Given the description of an element on the screen output the (x, y) to click on. 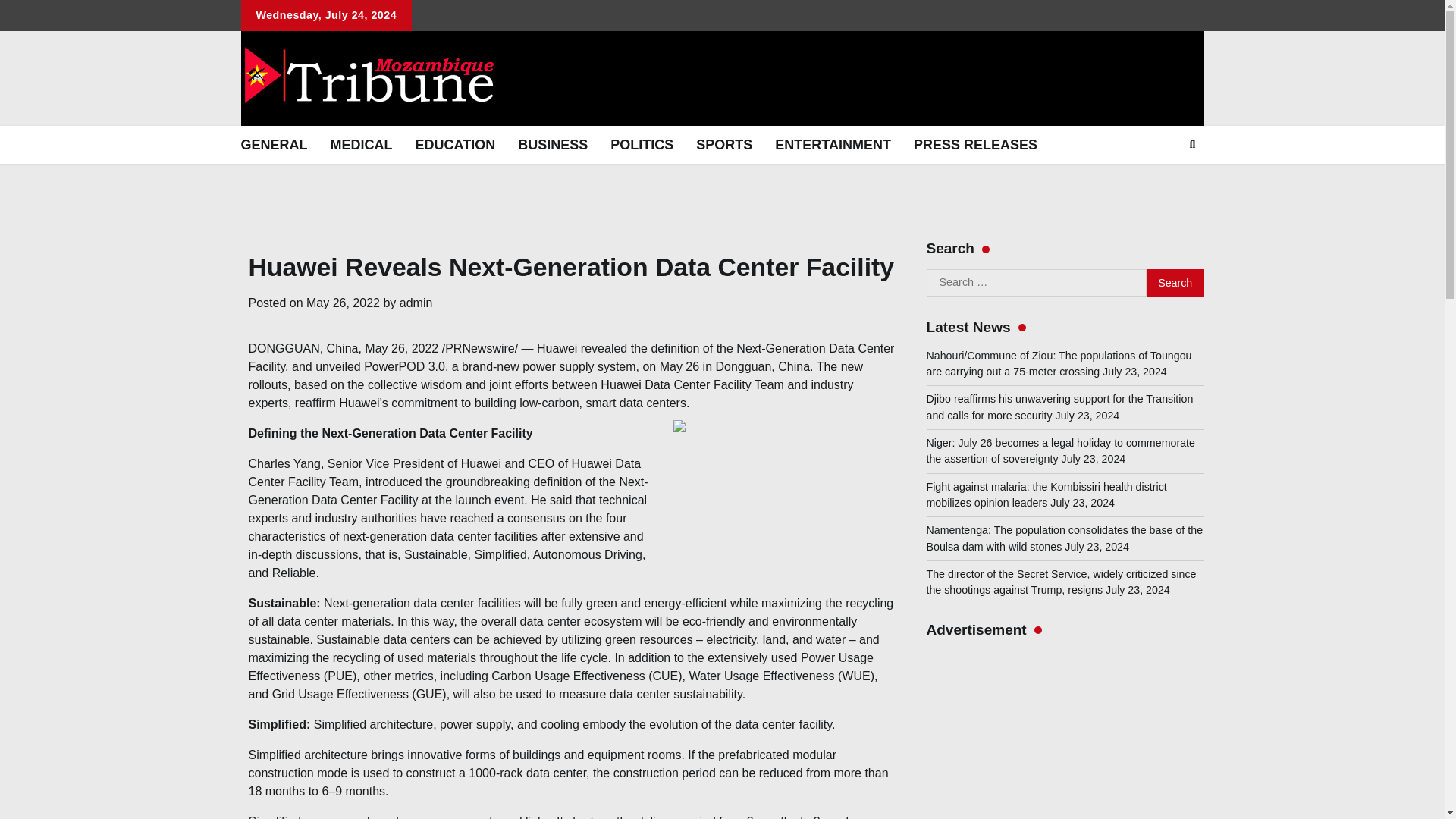
GENERAL (273, 144)
ENTERTAINMENT (832, 144)
SPORTS (723, 144)
Search (1175, 282)
BUSINESS (552, 144)
May 26, 2022 (342, 302)
PRESS RELEASES (975, 144)
POLITICS (641, 144)
Search (1164, 180)
admin (415, 302)
MEDICAL (361, 144)
Search (1175, 282)
EDUCATION (455, 144)
Search (1192, 144)
